Given the description of an element on the screen output the (x, y) to click on. 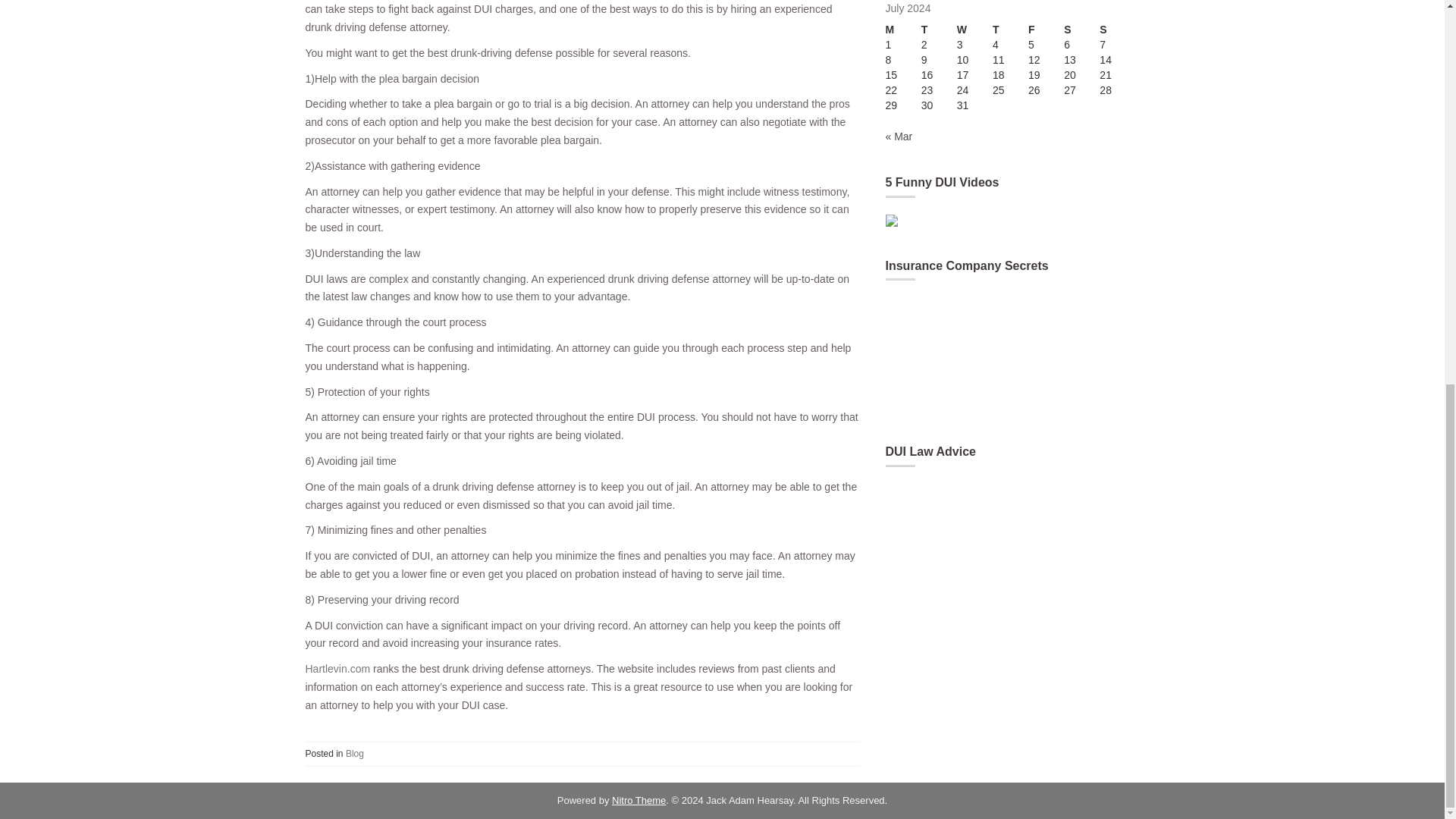
Nitro Theme (638, 799)
Saturday (1081, 29)
Friday (1045, 29)
Wednesday (974, 29)
Blog (355, 753)
Monday (903, 29)
Tuesday (938, 29)
Hartlevin.com (336, 668)
Sunday (1117, 29)
Thursday (1009, 29)
